Given the description of an element on the screen output the (x, y) to click on. 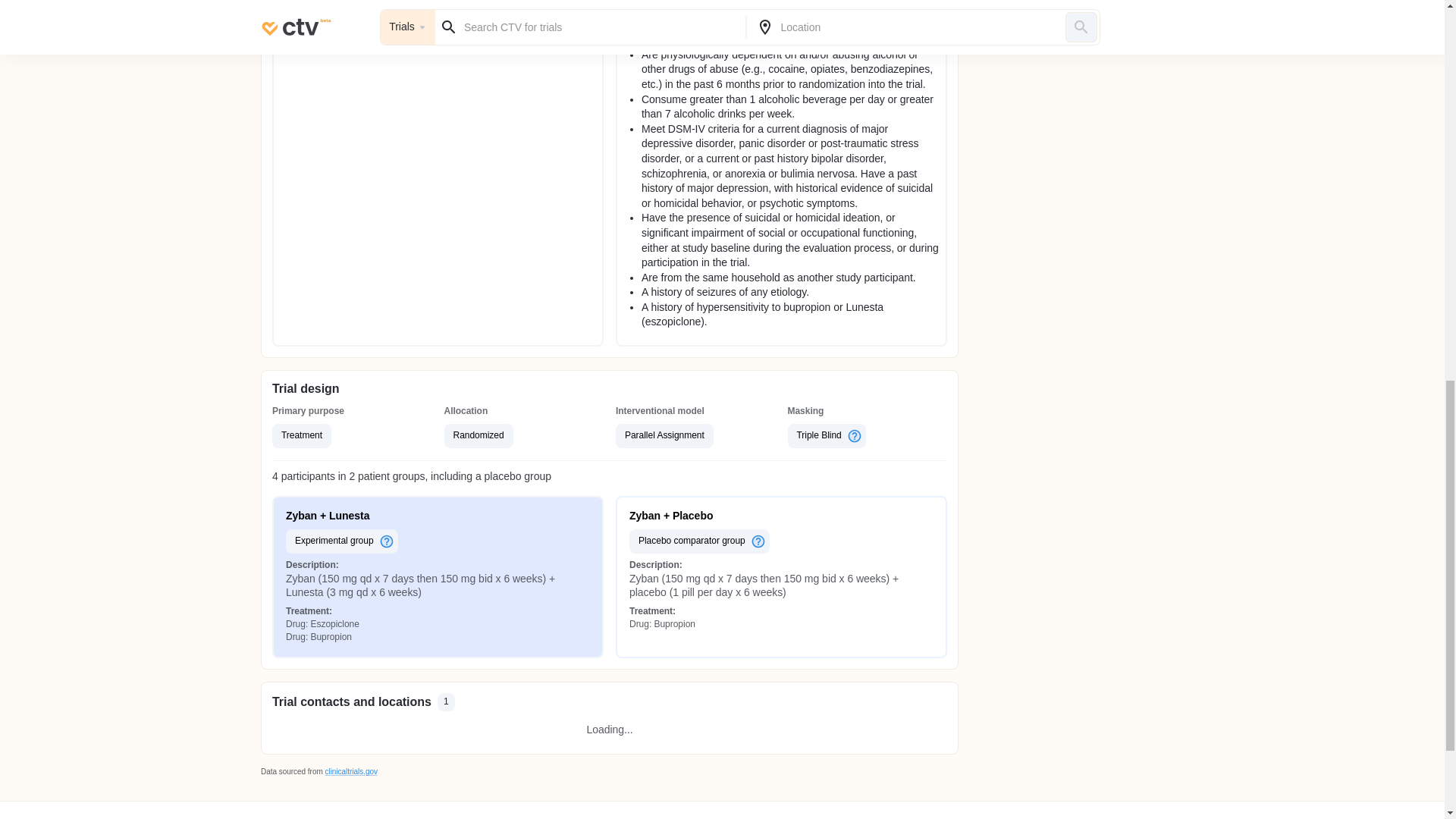
clinicaltrials.gov (350, 771)
